Given the description of an element on the screen output the (x, y) to click on. 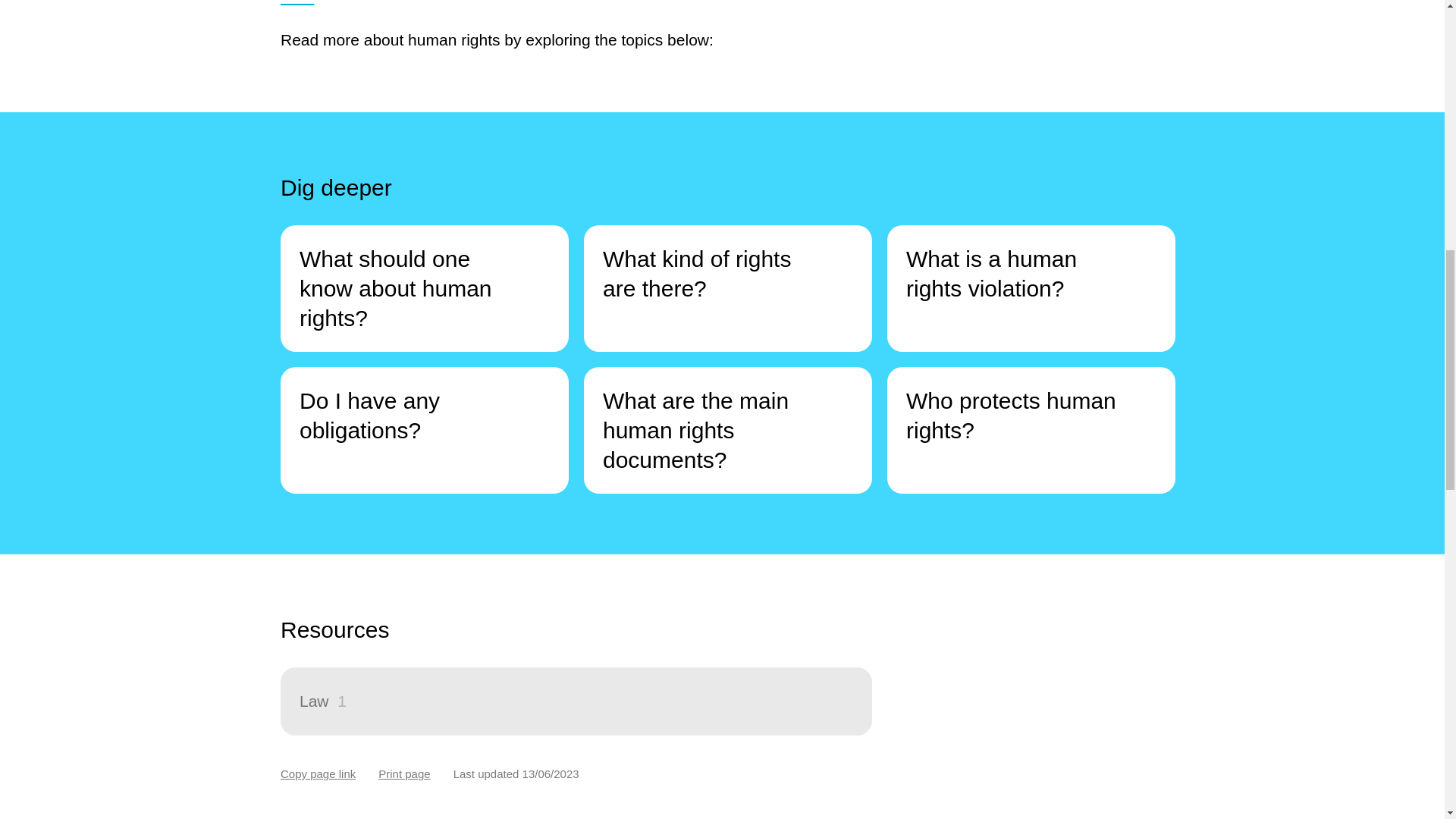
Copy page link (318, 773)
Print page (403, 773)
What is a human rights violation? (1030, 288)
Law  1 (576, 701)
What kind of rights are there? (727, 288)
Do I have any obligations? (424, 430)
What are the main human rights documents? (727, 430)
Who protects human rights? (1030, 430)
What should one know about human rights? (424, 288)
